Given the description of an element on the screen output the (x, y) to click on. 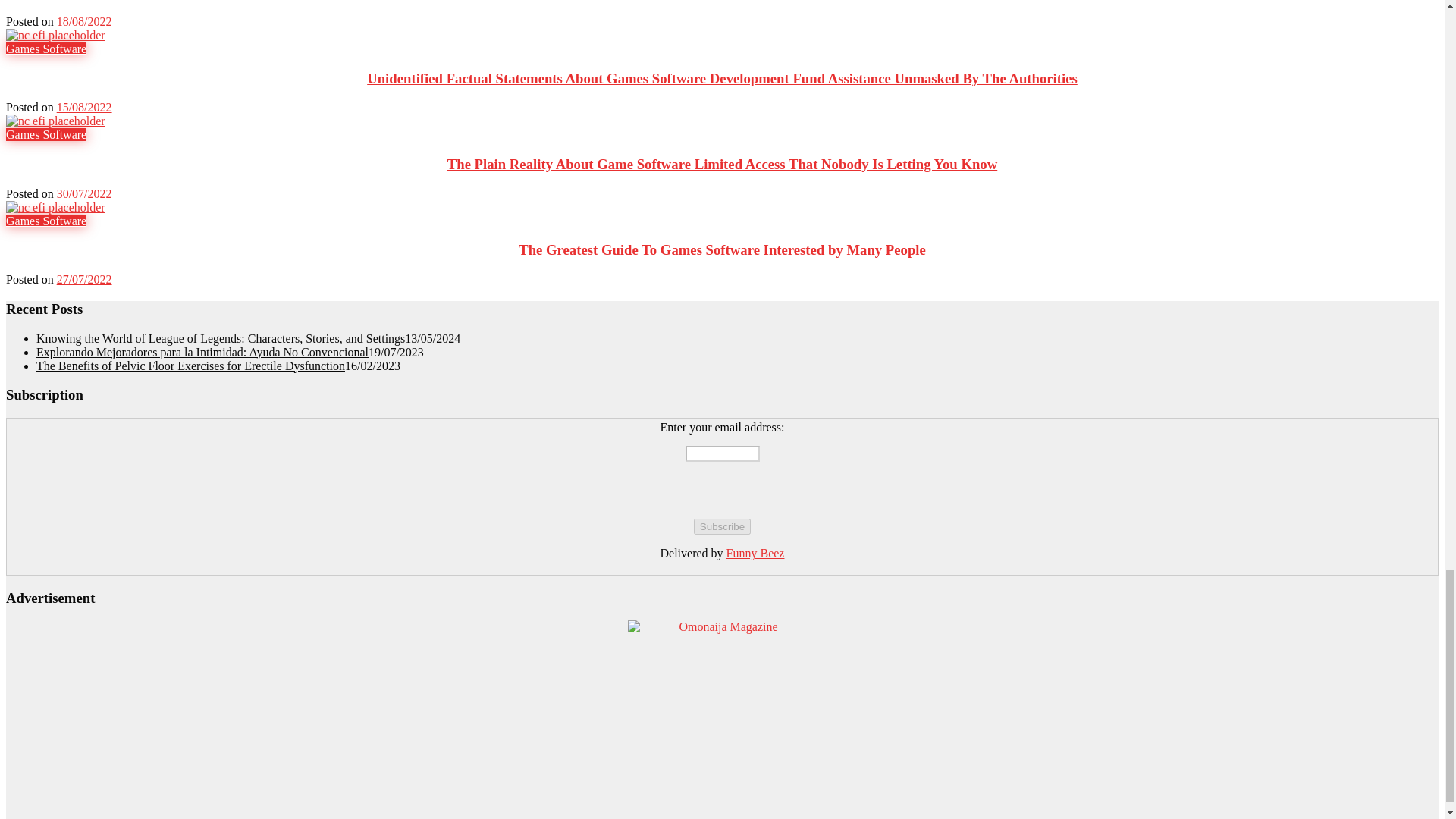
Subscribe (722, 526)
